Given the description of an element on the screen output the (x, y) to click on. 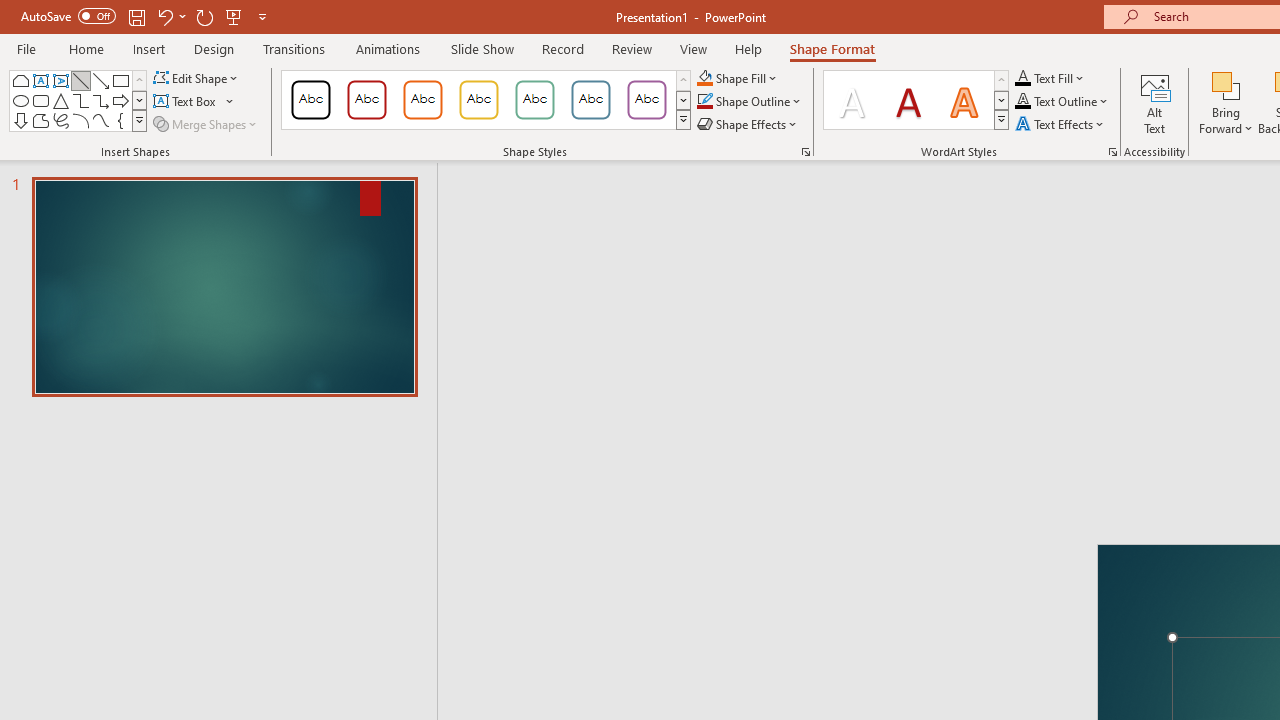
Connector: Elbow Arrow (100, 100)
AutomationID: ShapeStylesGallery (486, 99)
Arc (80, 120)
Row Down (1001, 100)
Shape Outline (749, 101)
Text Box (194, 101)
Arrow: Right (120, 100)
Colored Outline - Black, Dark 1 (310, 100)
Row up (1001, 79)
Format Text Effects... (1112, 151)
Rectangle: Top Corners Snipped (20, 80)
